Given the description of an element on the screen output the (x, y) to click on. 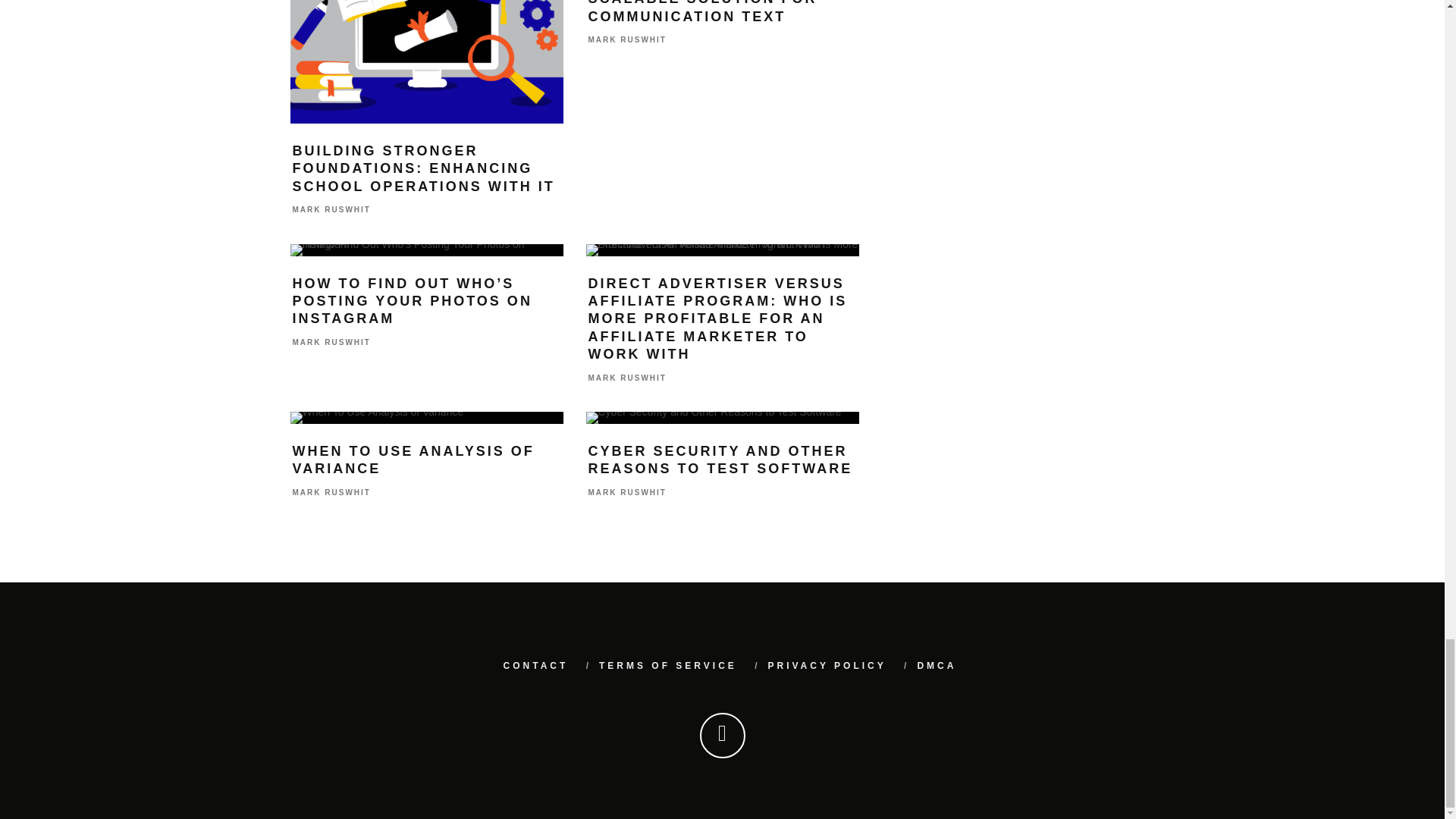
MARK RUSWHIT (627, 40)
MARK RUSWHIT (331, 210)
WHEN TO USE ANALYSIS OF VARIANCE (413, 459)
When To Use Analysis of Variance (425, 417)
MARK RUSWHIT (331, 492)
MARK RUSWHIT (627, 377)
Cyber Security and Other Reasons to Test Software (722, 417)
